Given the description of an element on the screen output the (x, y) to click on. 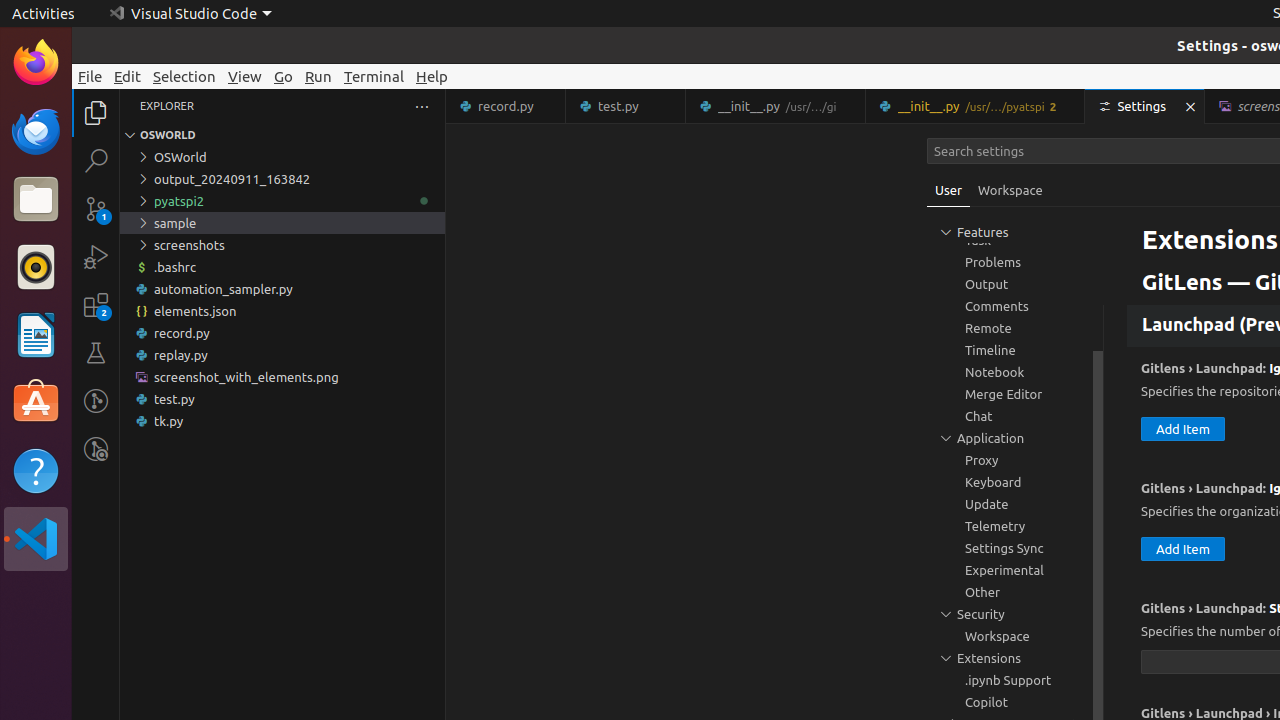
record.py Element type: tree-item (282, 333)
Notebook, group Element type: tree-item (1015, 372)
Settings Element type: page-tab (1145, 106)
